Given the description of an element on the screen output the (x, y) to click on. 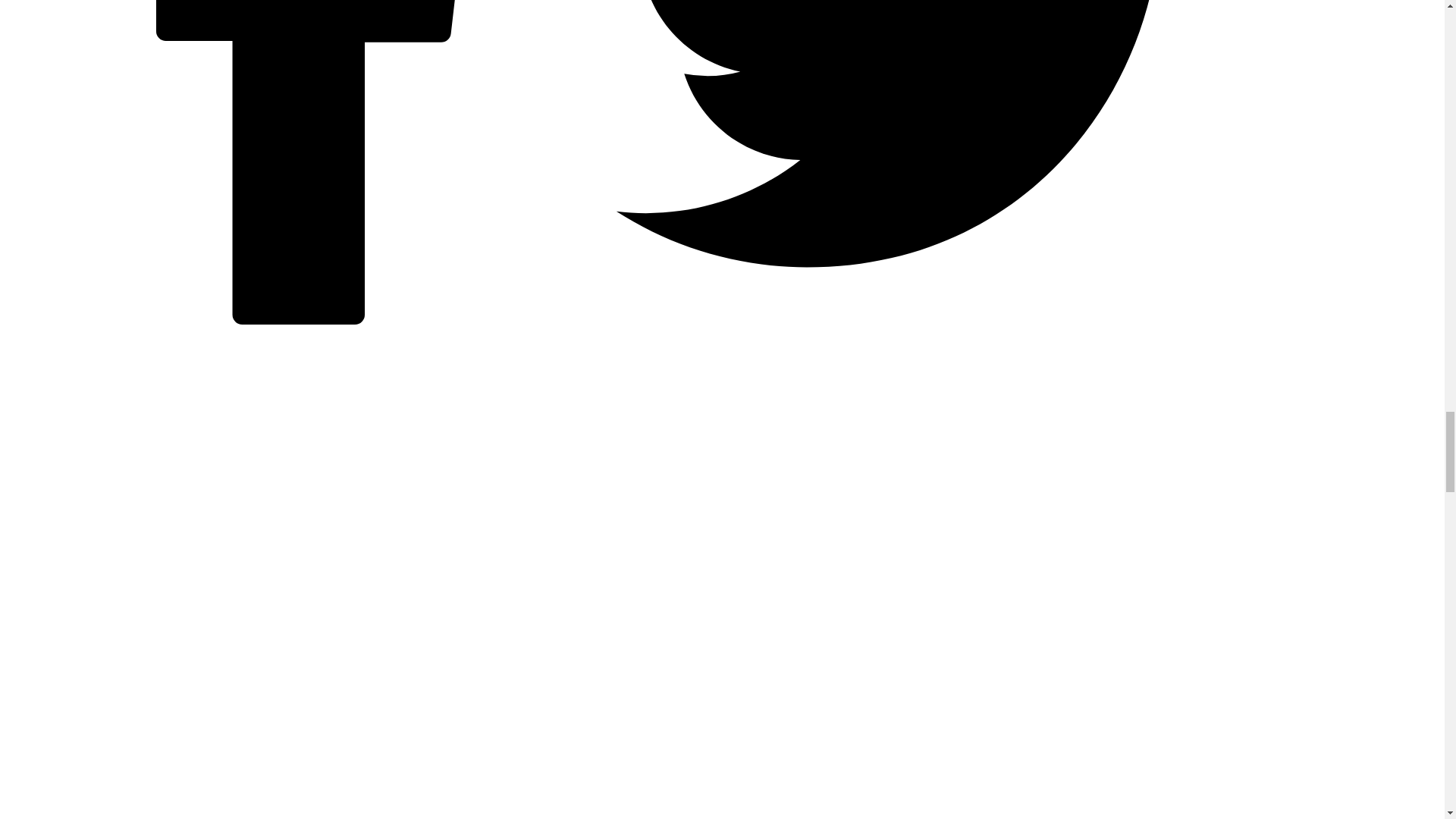
Share on Facebook (310, 319)
Tweet This Post (919, 319)
